Given the description of an element on the screen output the (x, y) to click on. 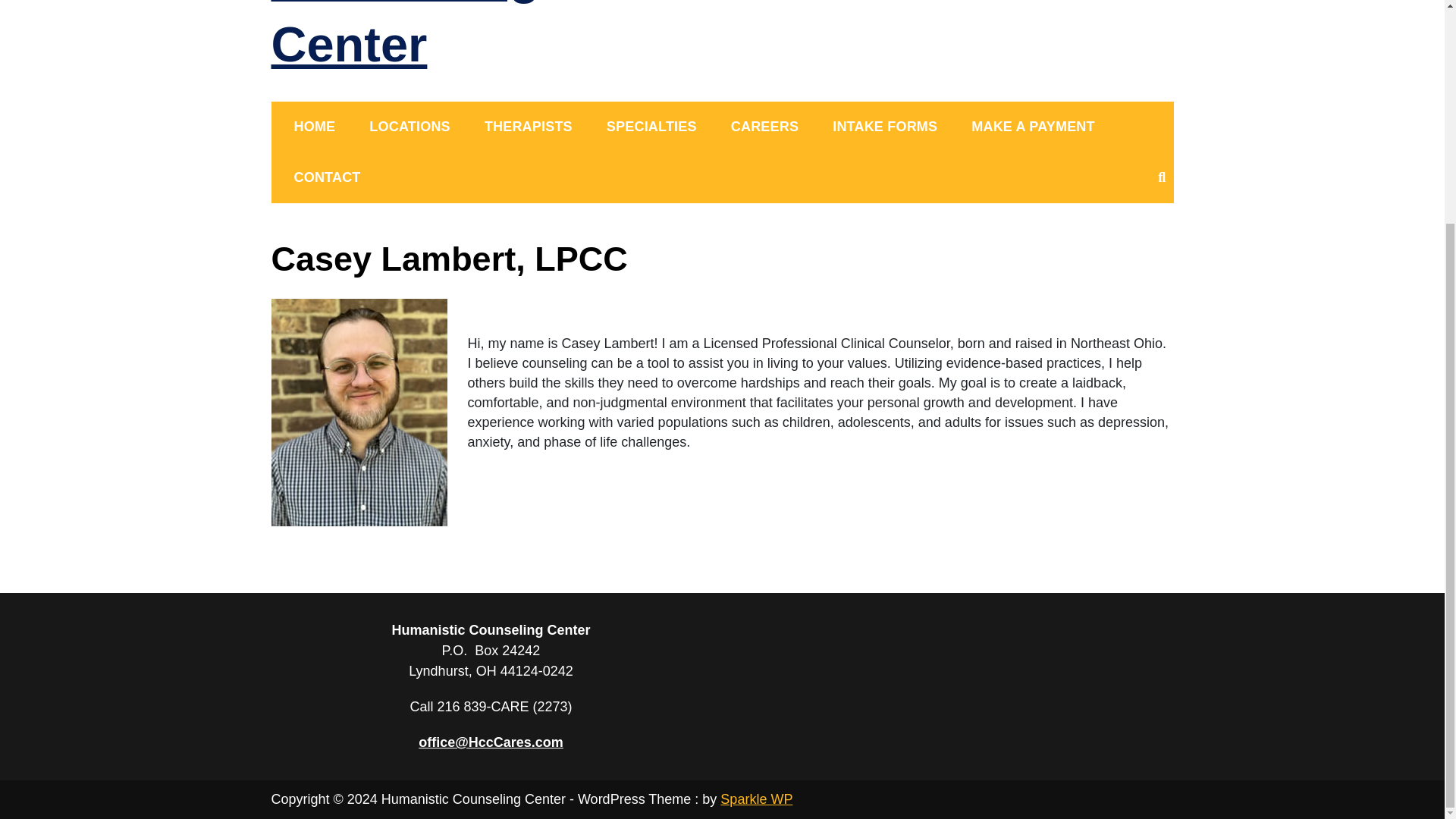
HOME (314, 126)
SPECIALTIES (651, 126)
CAREERS (764, 126)
INTAKE FORMS (884, 126)
Humanistic Counseling Center (405, 36)
Sparkle WP (756, 798)
THERAPISTS (528, 126)
Search (878, 82)
LOCATIONS (408, 126)
MAKE A PAYMENT (1032, 126)
CONTACT (327, 177)
